Given the description of an element on the screen output the (x, y) to click on. 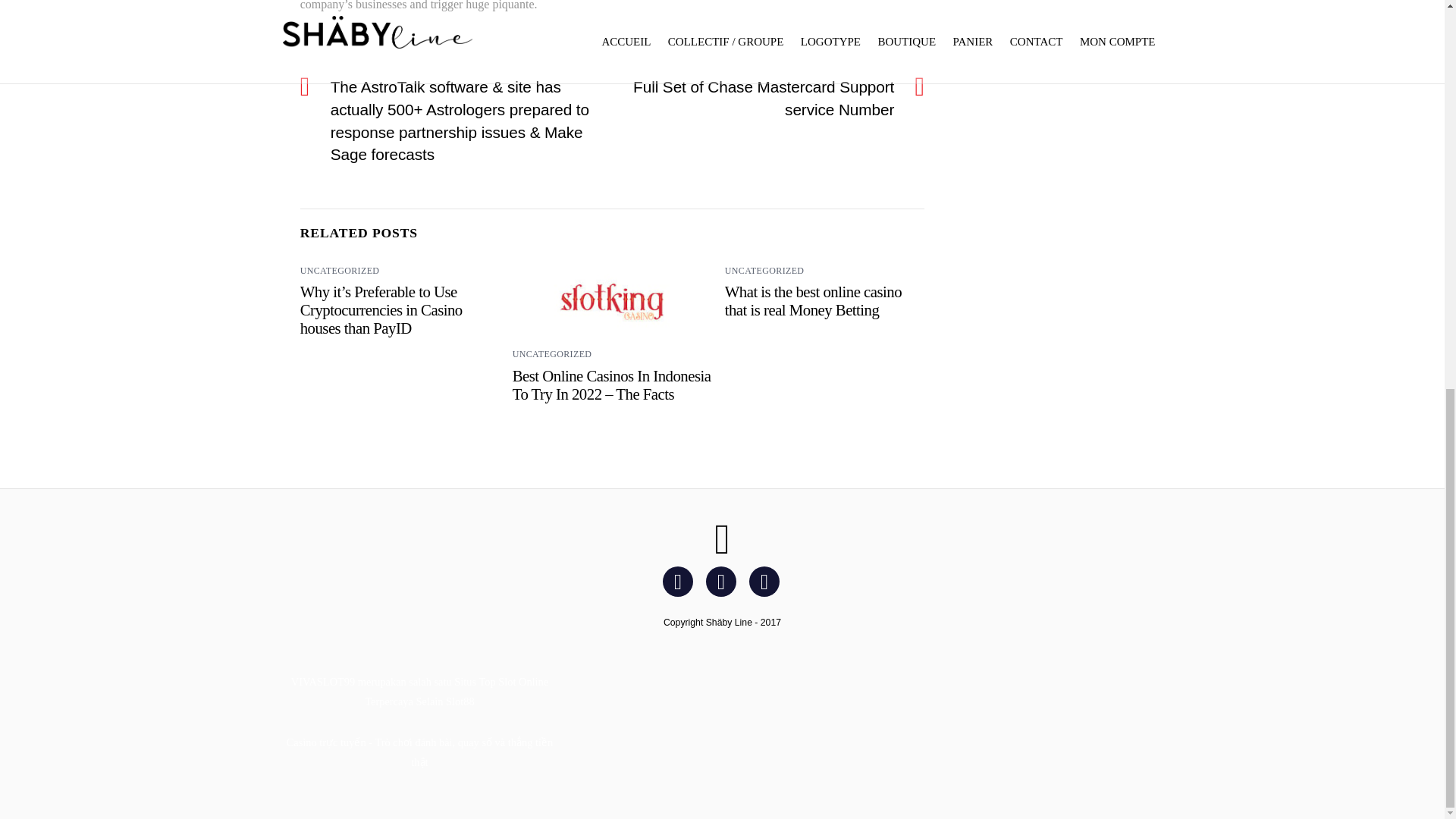
UNCATEGORIZED (339, 270)
What is the best online casino that is real Money Betting (813, 300)
Slot Online (522, 681)
Facebook (680, 580)
UNCATEGORIZED (765, 270)
UNCATEGORIZED (552, 353)
YouTube (766, 580)
What is the best online casino that is real Money Betting (813, 300)
Instagram (723, 580)
Full Set of Chase Mastercard Support service Number (761, 98)
